Given the description of an element on the screen output the (x, y) to click on. 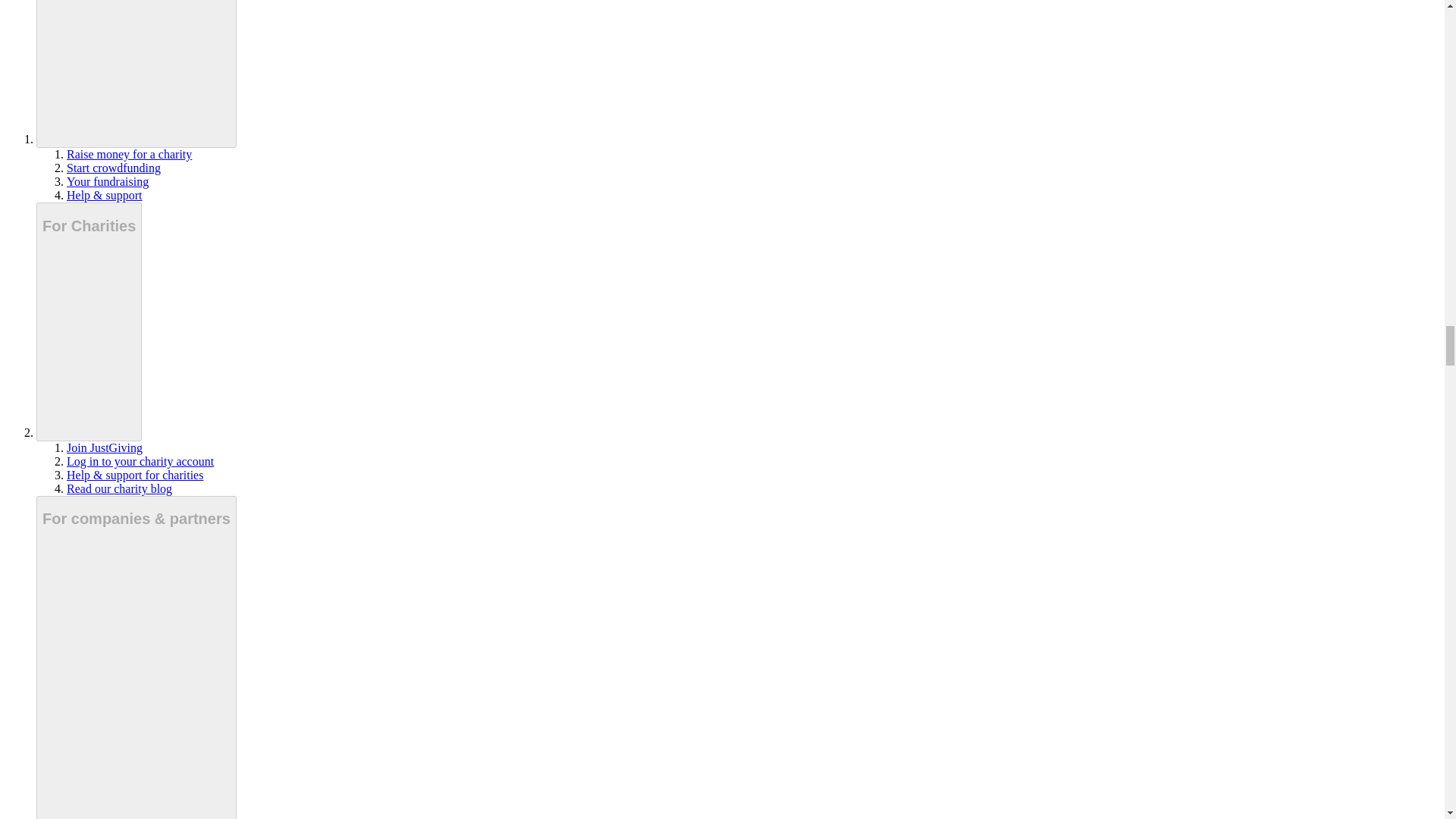
Start crowdfunding (113, 167)
For Charities (88, 321)
Read our charity blog (118, 488)
Raise money for a charity (129, 154)
Your fundraising (107, 181)
Join JustGiving (104, 447)
Log in to your charity account (140, 461)
